Given the description of an element on the screen output the (x, y) to click on. 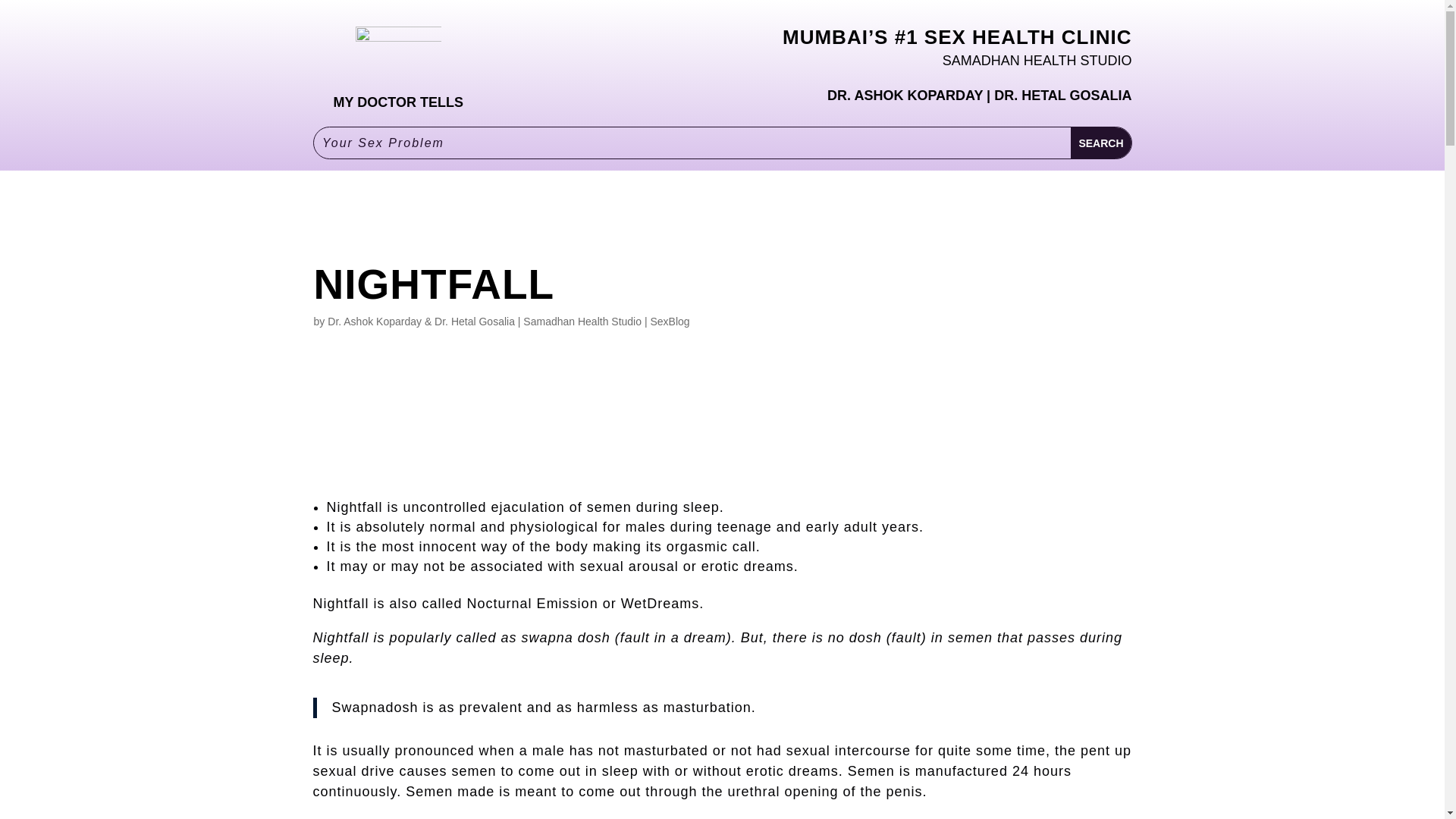
SEX BLOG (791, 28)
Search (1100, 142)
Search (1100, 142)
ABOUT (943, 28)
SexBlog (668, 321)
Search (1100, 142)
CONSULTATIONS (664, 28)
